Given the description of an element on the screen output the (x, y) to click on. 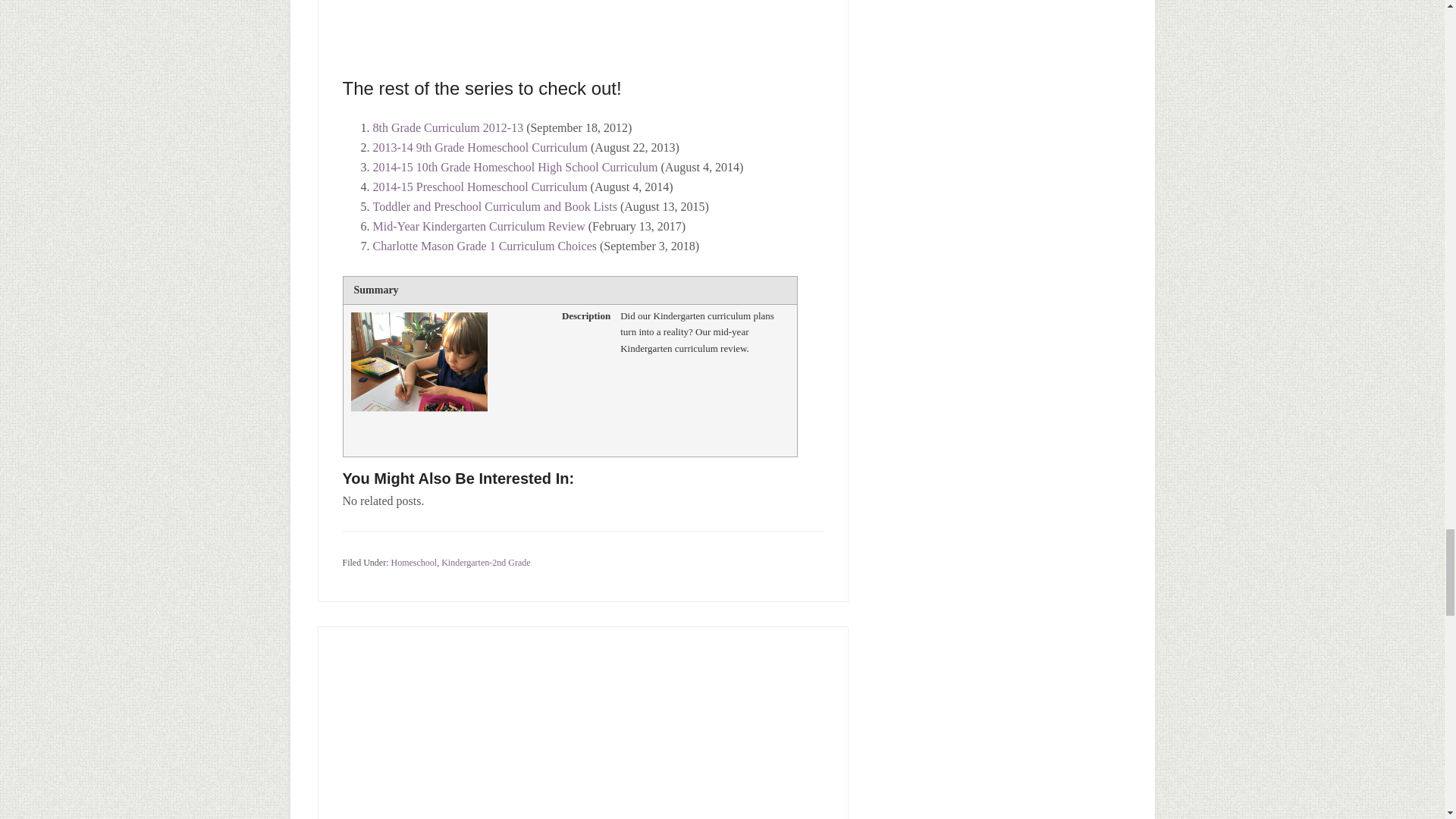
Charlotte Mason Grade 1 Curriculum Choices (484, 245)
2014-15 10th Grade Homeschool High School Curriculum (515, 166)
Mid-Year Kindergarten Curriculum Review (478, 226)
Toddler and Preschool Curriculum and Book Lists (494, 205)
8th Grade Curriculum 2012-13 (448, 127)
2013-14 9th Grade Homeschool Curriculum (480, 146)
2014-15 Preschool Homeschool Curriculum (480, 186)
